Given the description of an element on the screen output the (x, y) to click on. 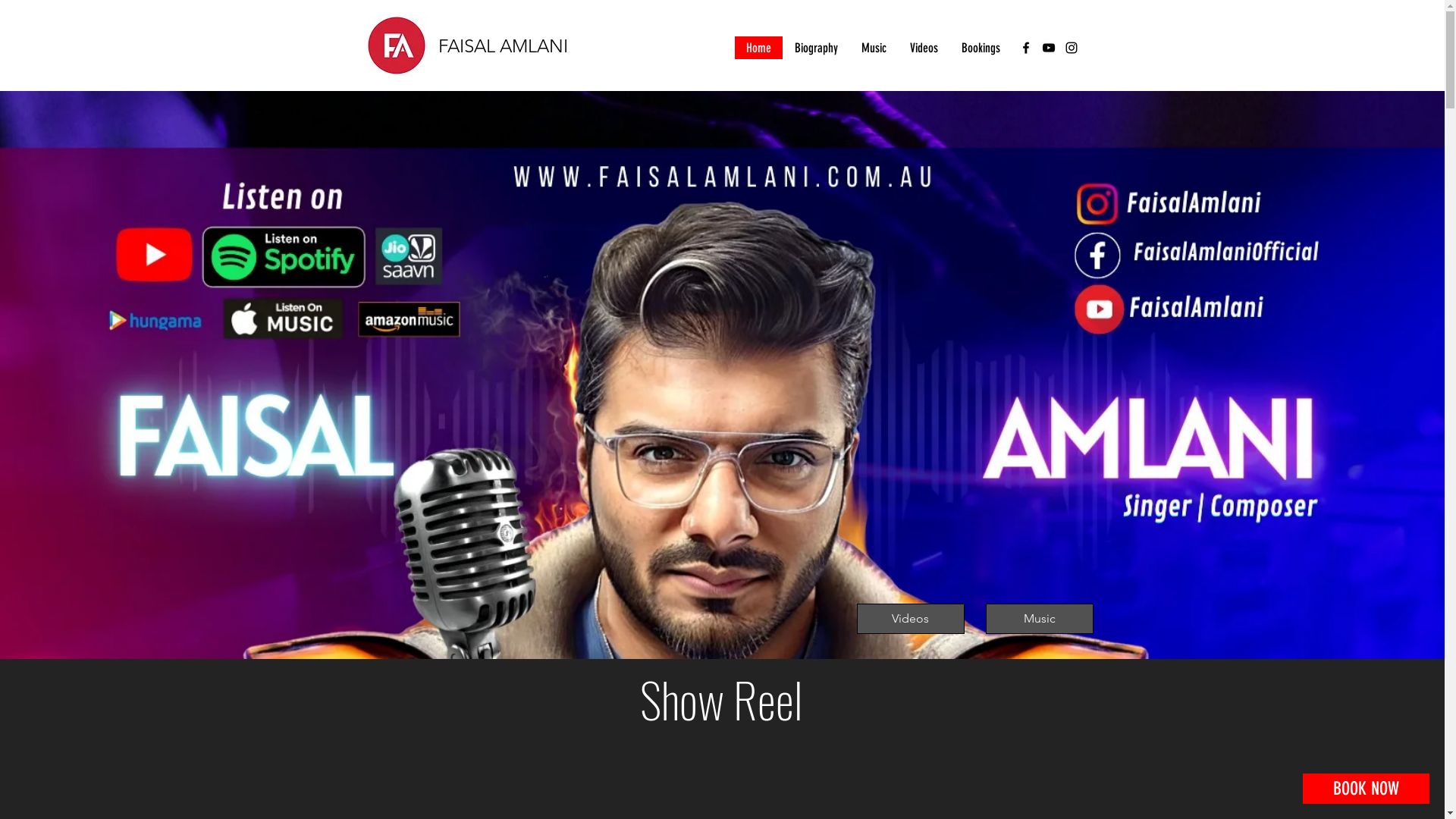
Biography Element type: text (815, 47)
FAISAL AMLANI Element type: text (502, 45)
Home Element type: text (758, 47)
Bookings Element type: text (980, 47)
Music Element type: text (1039, 618)
BOOK NOW Element type: text (1365, 788)
Videos Element type: text (923, 47)
Videos Element type: text (910, 618)
Music Element type: text (873, 47)
